Given the description of an element on the screen output the (x, y) to click on. 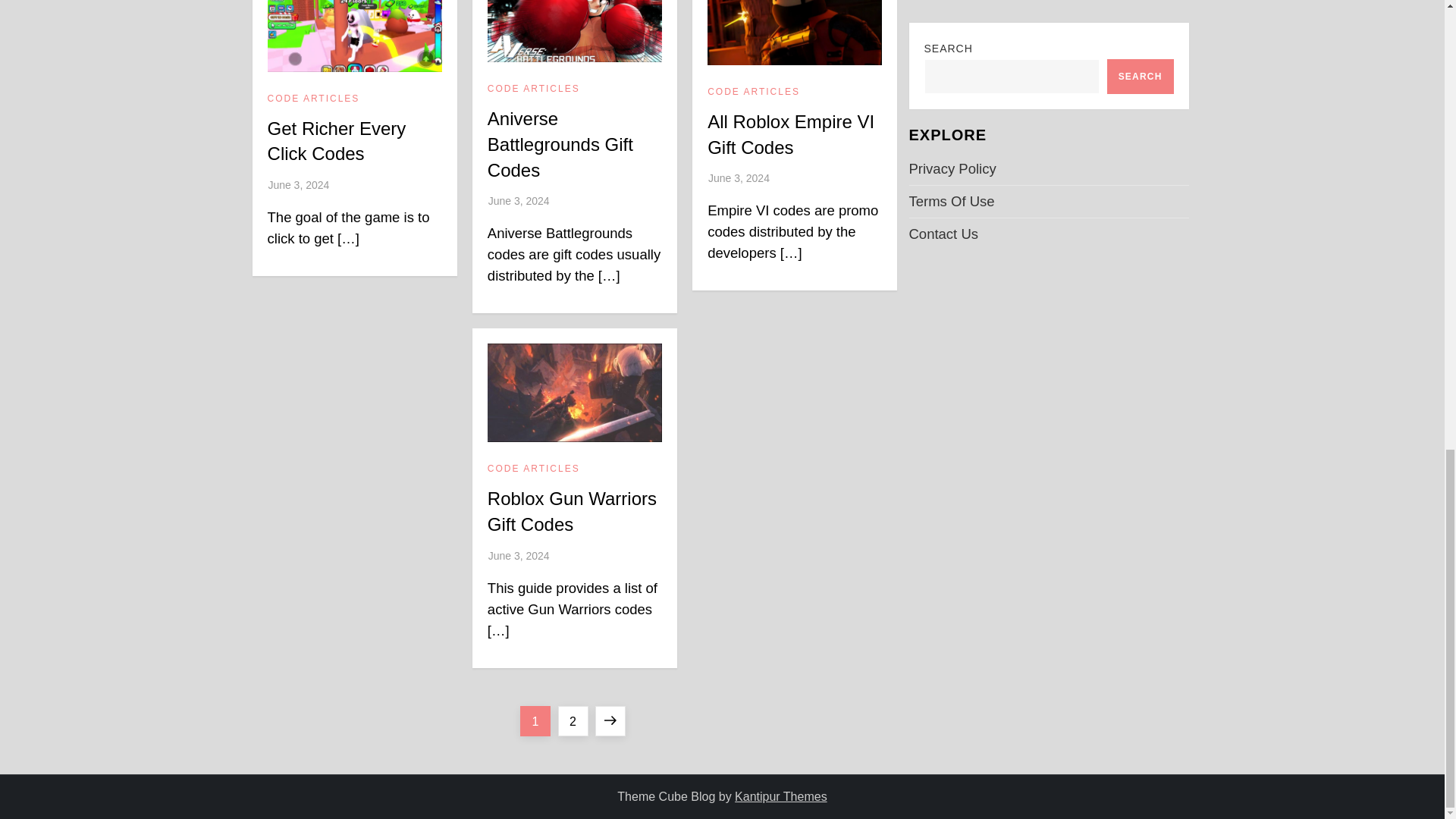
Aniverse Battlegrounds Gift Codes (560, 143)
June 3, 2024 (298, 184)
Get Richer Every Click Codes (336, 140)
CODE ARTICLES (313, 99)
CODE ARTICLES (533, 89)
